Given the description of an element on the screen output the (x, y) to click on. 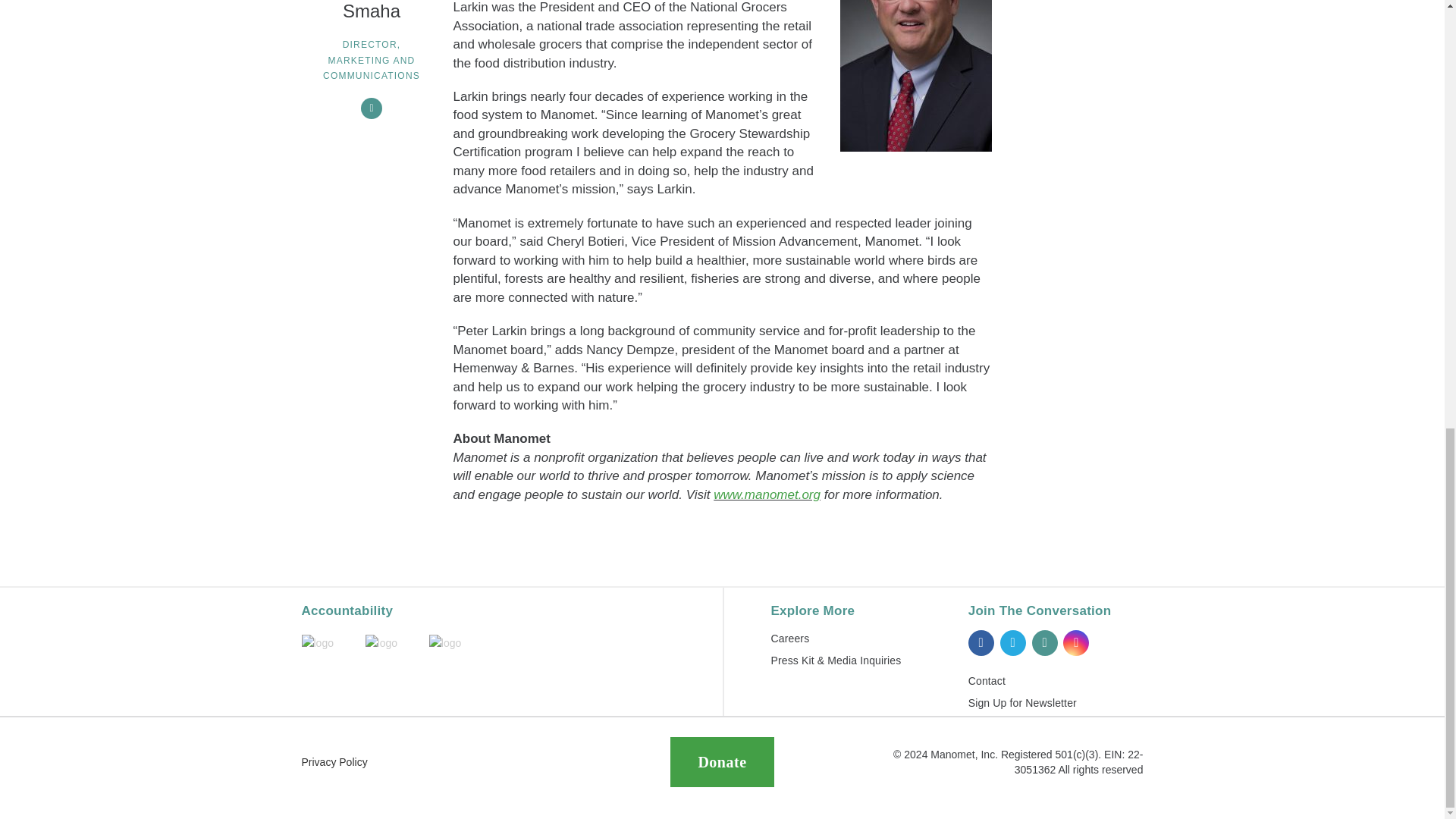
Twitter (1013, 642)
email (371, 107)
Instagram (1075, 642)
Facebook (981, 642)
Linkedin (1043, 642)
